Given the description of an element on the screen output the (x, y) to click on. 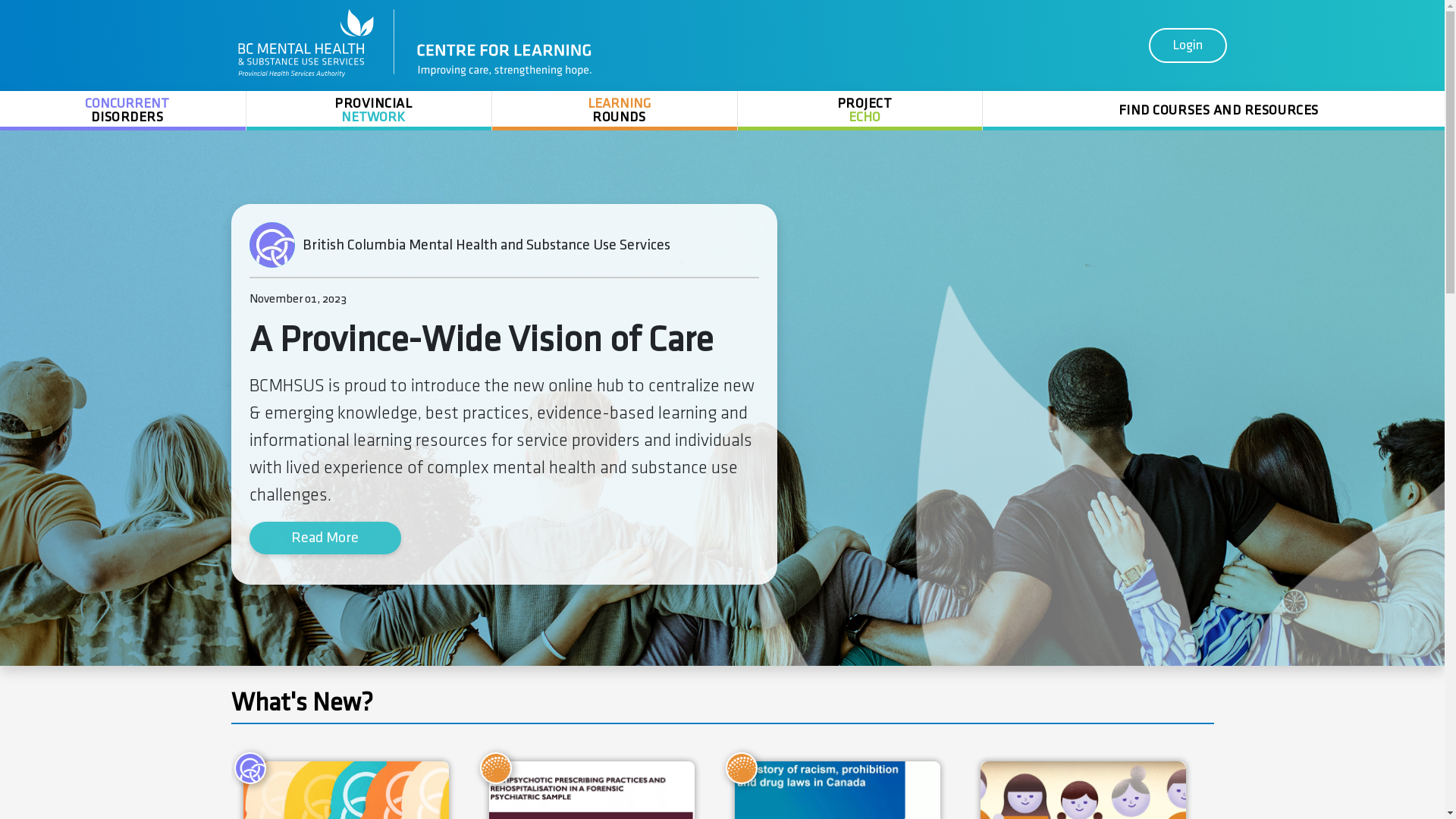
Login Element type: text (1187, 45)
PROJECT
ECHO Element type: text (859, 110)
CONCURRENT
DISORDERS Element type: text (122, 110)
Home Element type: hover (415, 41)
FIND COURSES AND RESOURCES Element type: text (1213, 110)
PROVINCIAL
NETWORK Element type: text (368, 110)
Read More Element type: text (324, 537)
LEARNING
ROUNDS Element type: text (614, 110)
